Given the description of an element on the screen output the (x, y) to click on. 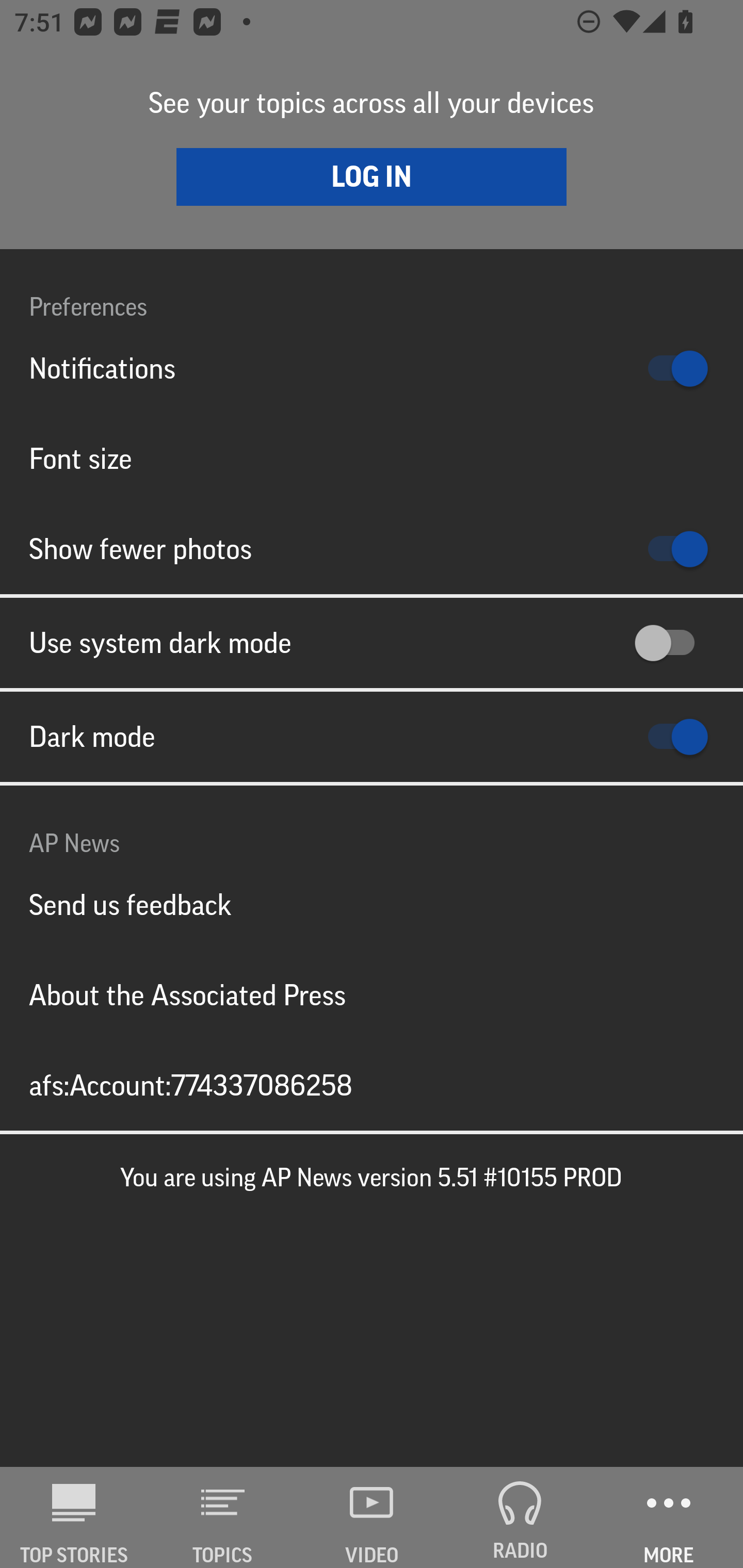
LOG IN (371, 176)
Notifications (371, 368)
Font size (371, 458)
Show fewer photos (371, 548)
Use system dark mode (371, 642)
Dark mode (371, 736)
Send us feedback (371, 904)
About the Associated Press (371, 994)
afs:Account:774337086258 (371, 1084)
AP News TOP STORIES (74, 1517)
TOPICS (222, 1517)
VIDEO (371, 1517)
RADIO (519, 1517)
MORE (668, 1517)
